Given the description of an element on the screen output the (x, y) to click on. 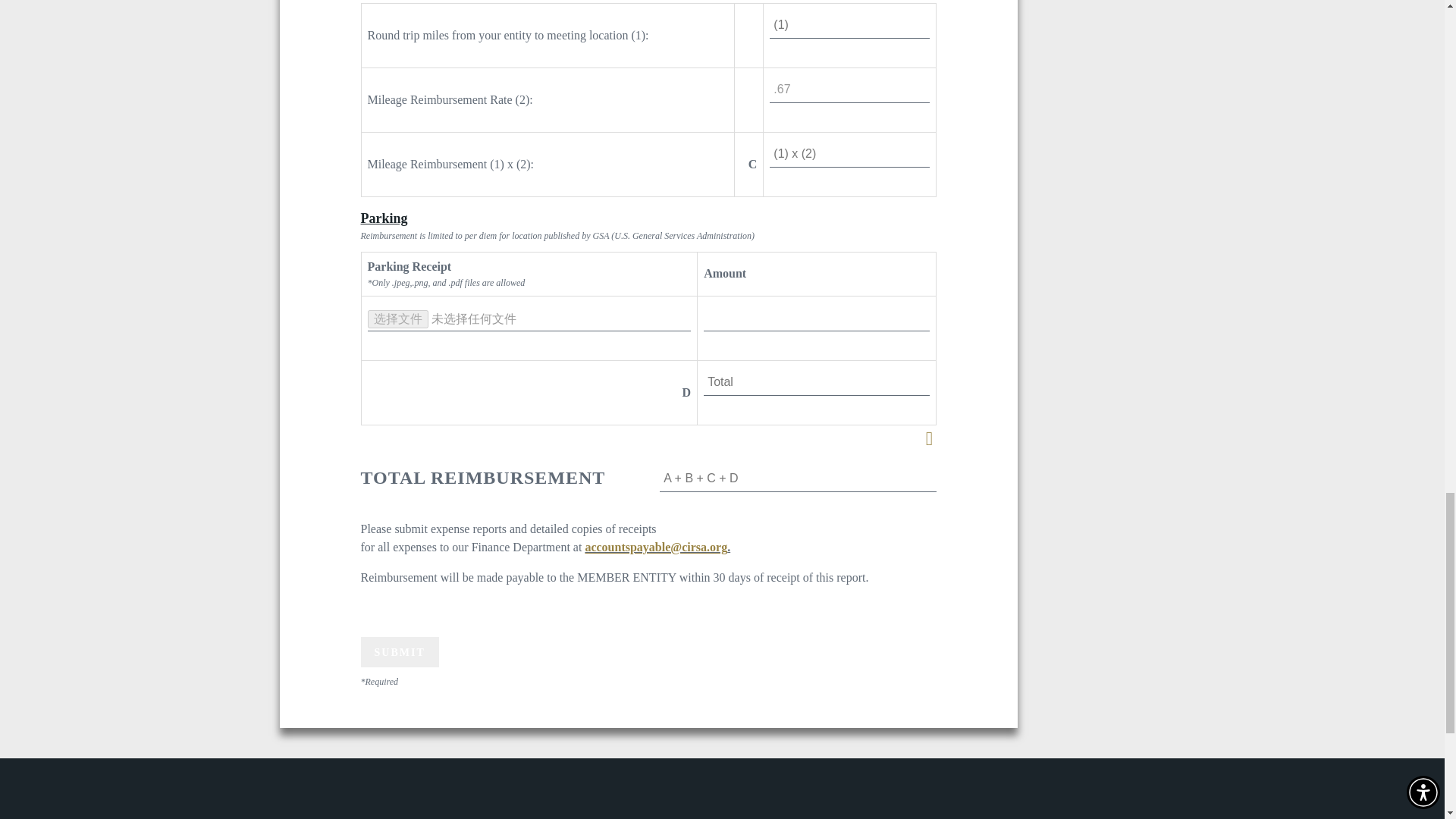
.67 (850, 88)
